Given the description of an element on the screen output the (x, y) to click on. 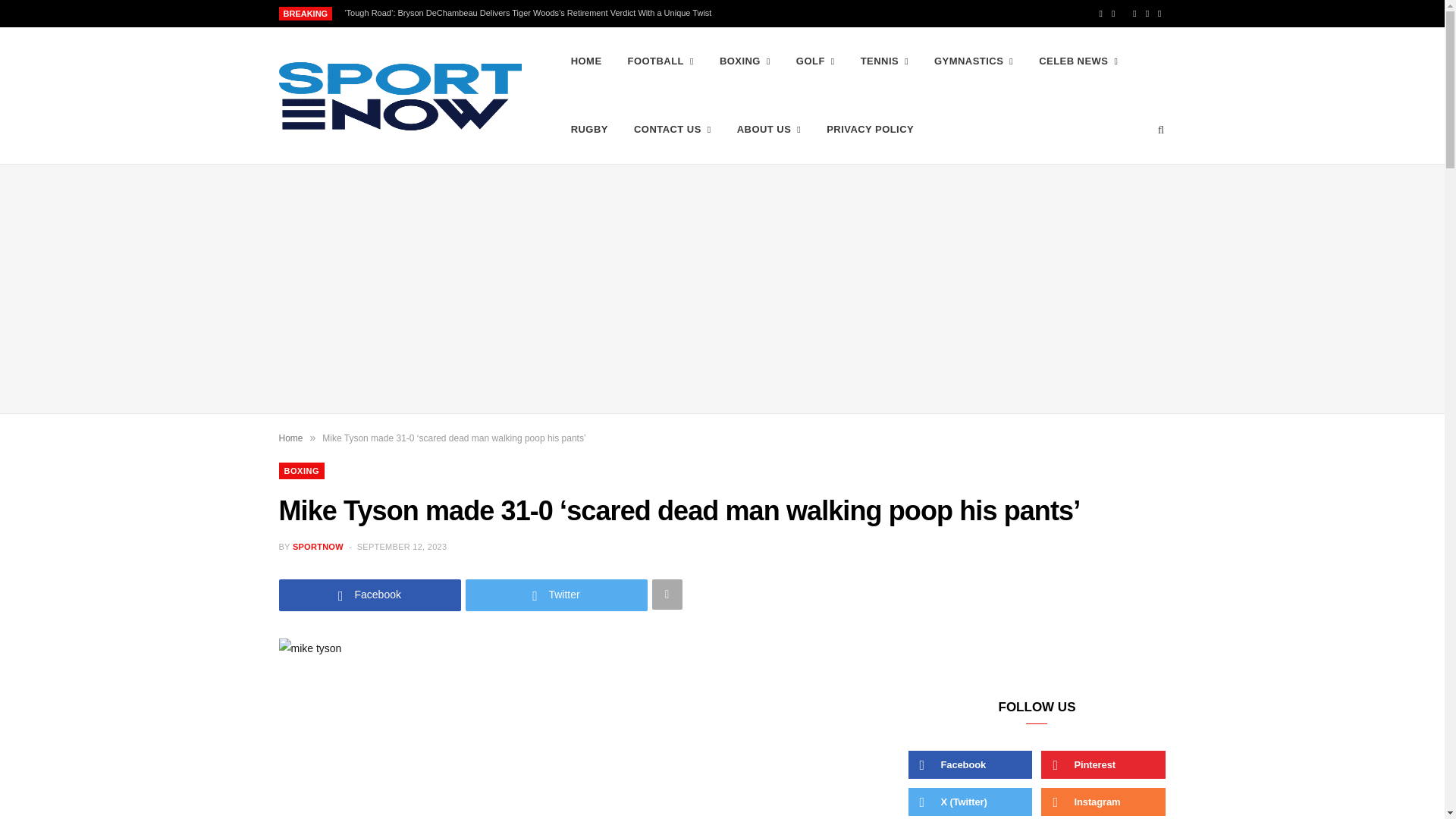
Pinterest (1147, 13)
Instagram (1134, 13)
BOXING (744, 61)
sport now (400, 96)
Posts by sportnow (317, 546)
Facebook (1100, 13)
Vimeo (1159, 13)
FOOTBALL (659, 61)
HOME (585, 61)
Search (1161, 129)
